Given the description of an element on the screen output the (x, y) to click on. 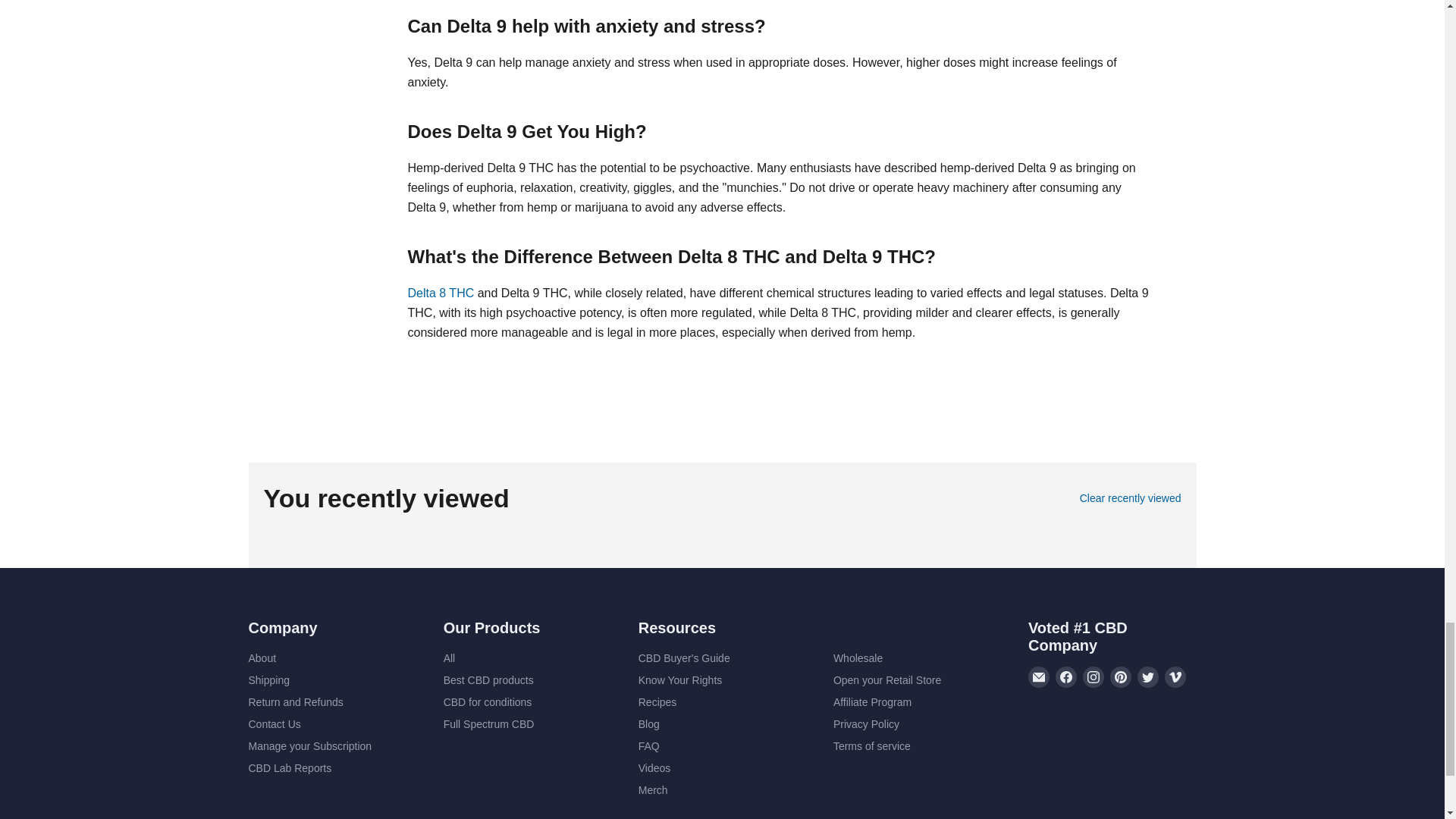
Facebook (1066, 676)
Email (1038, 676)
Vimeo (1175, 676)
Pinterest (1120, 676)
Twitter (1147, 676)
Instagram (1093, 676)
